Given the description of an element on the screen output the (x, y) to click on. 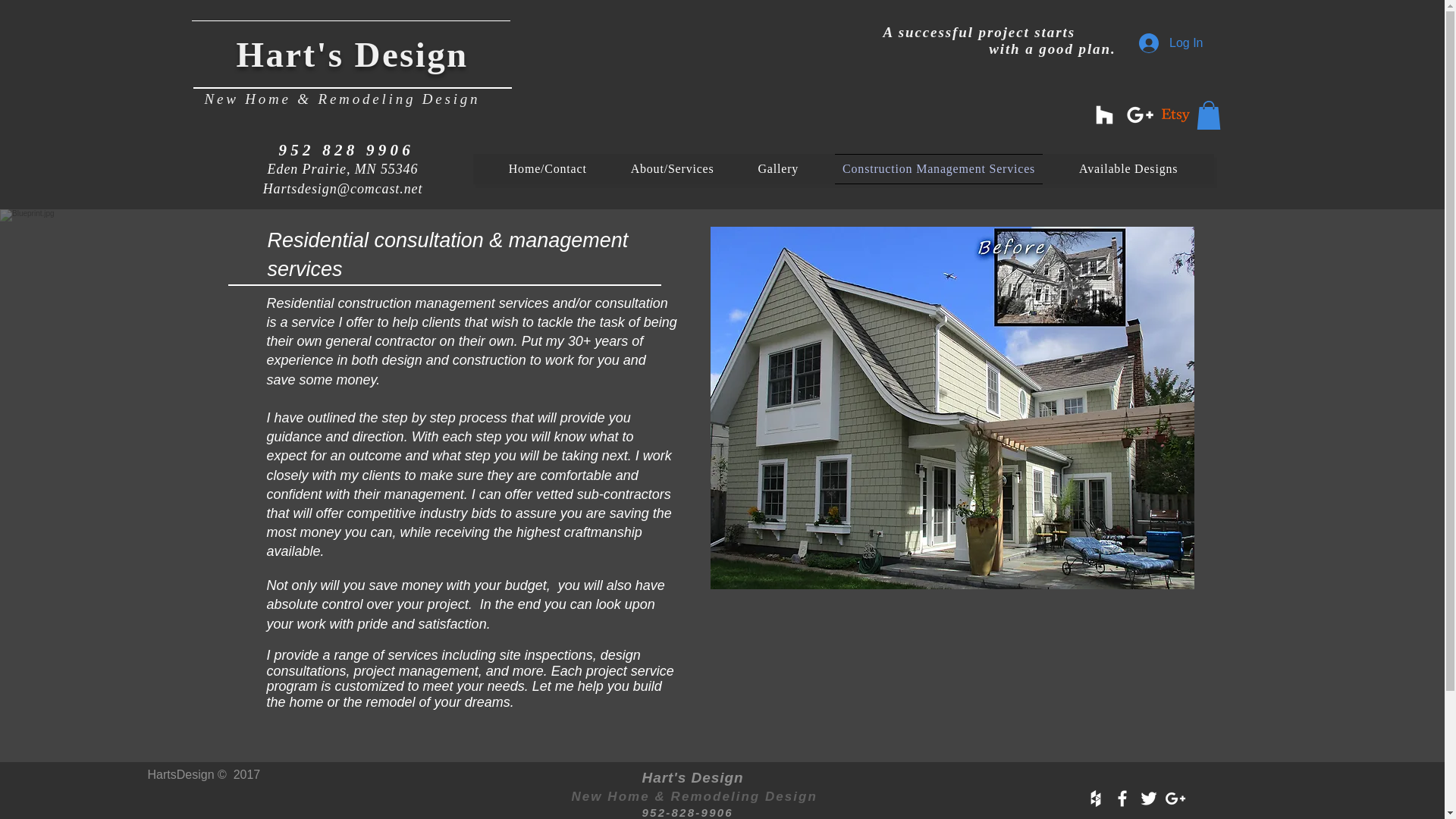
Log In (1170, 42)
Available Designs (1128, 168)
Construction Management Services (938, 168)
Hart's Design (351, 54)
Gallery (778, 168)
